Given the description of an element on the screen output the (x, y) to click on. 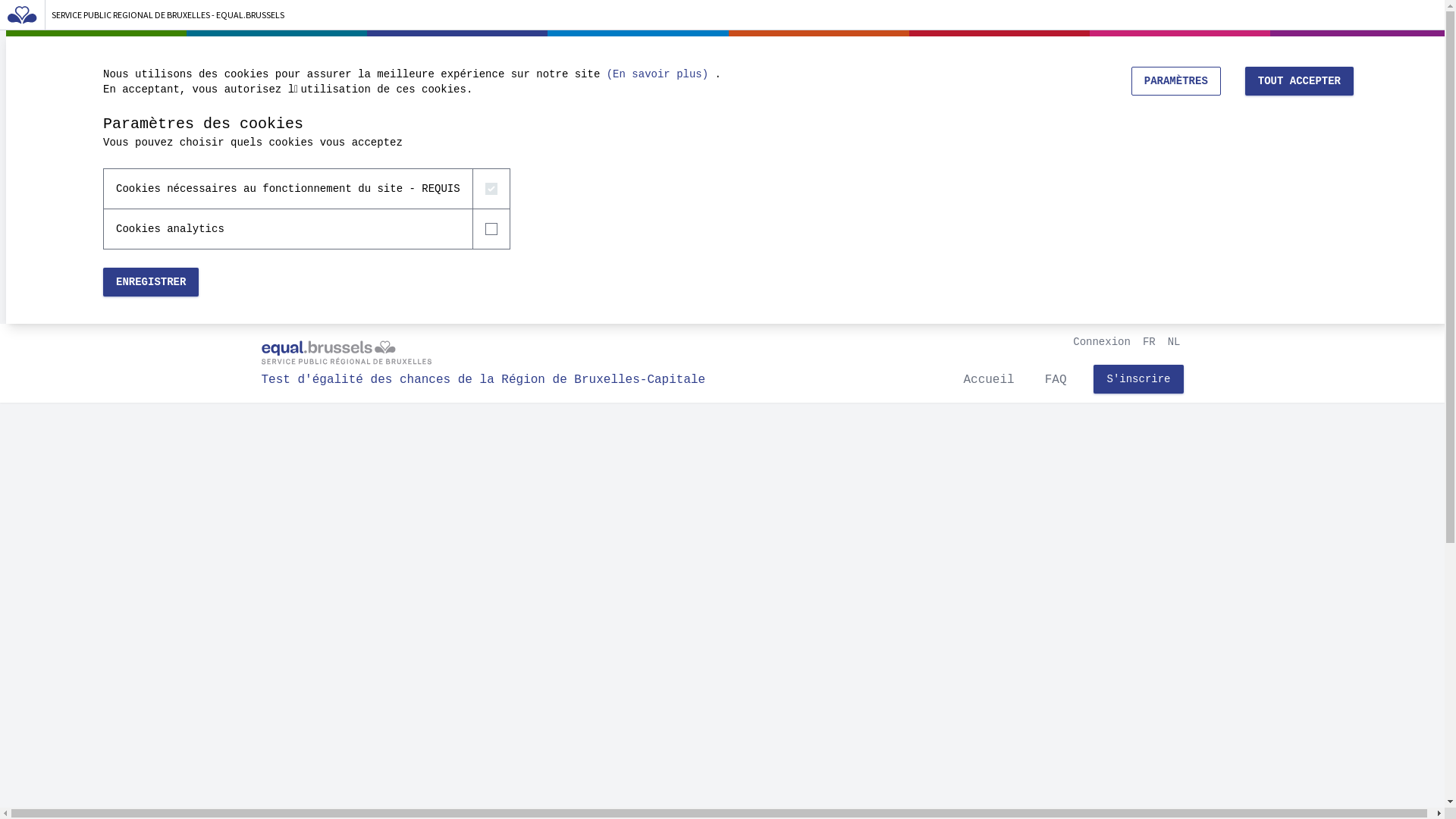
ENREGISTRER Element type: text (150, 281)
SERVICE PUBLIC REGIONAL DE BRUXELLES - EQUAL.BRUSSELS Element type: text (167, 15)
(En savoir plus) Element type: text (657, 74)
Accueil Element type: text (988, 383)
FR Element type: text (1148, 337)
TOUT ACCEPTER Element type: text (1299, 80)
S'inscrire Element type: text (1138, 378)
Connexion Element type: text (1101, 337)
FAQ Element type: text (1055, 383)
NL Element type: text (1173, 337)
